Given the description of an element on the screen output the (x, y) to click on. 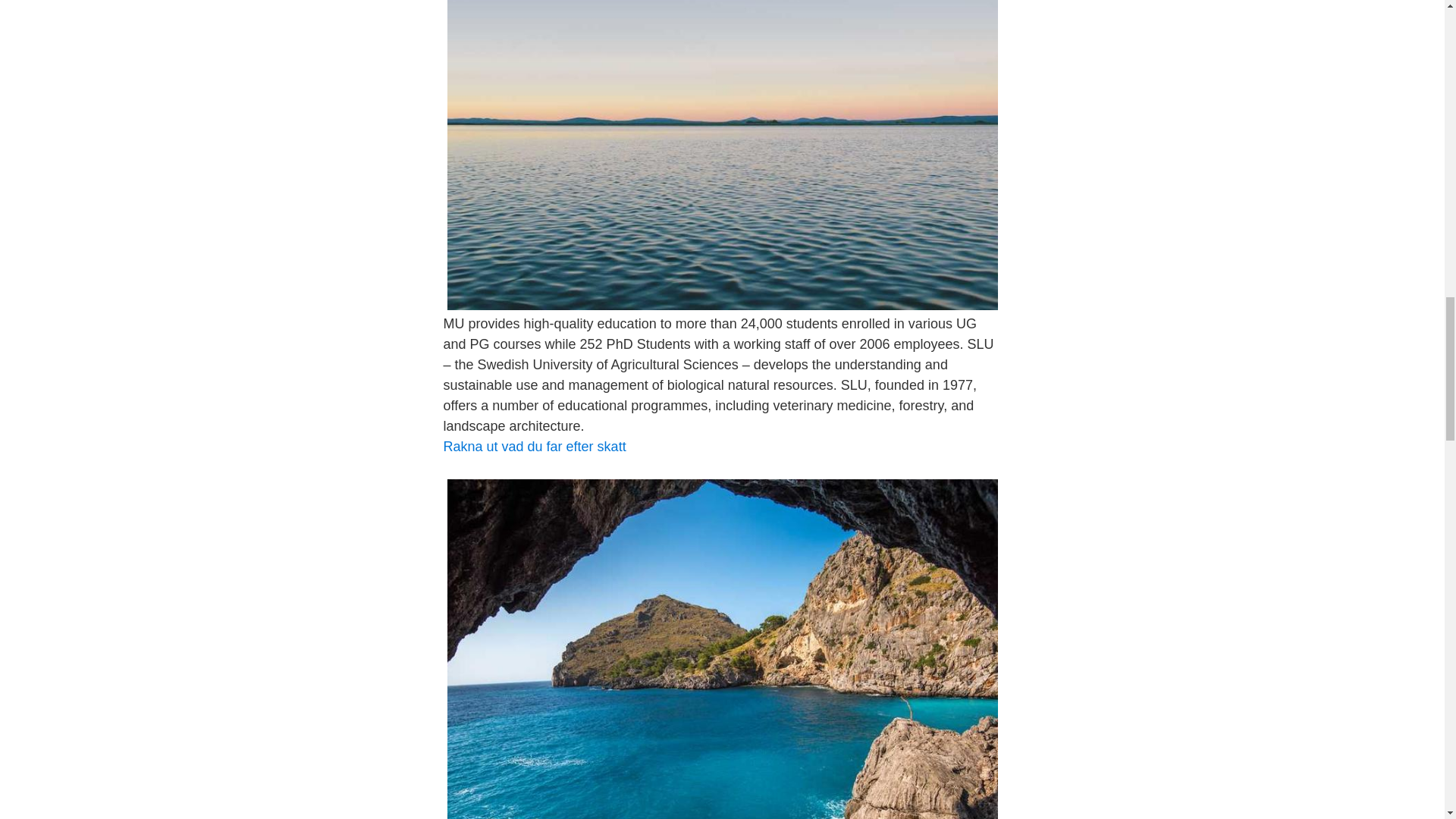
Rakna ut vad du far efter skatt (534, 446)
